Given the description of an element on the screen output the (x, y) to click on. 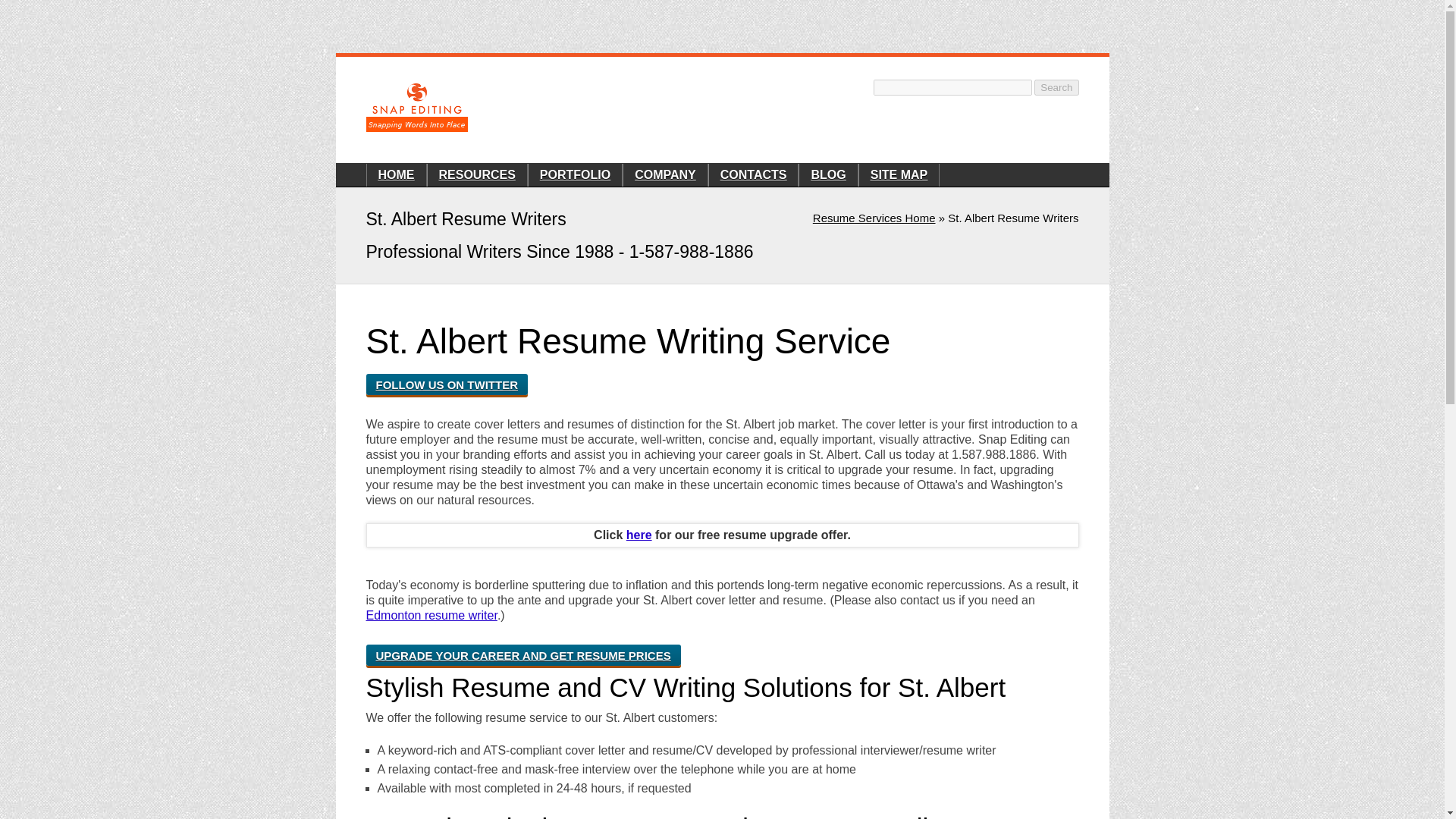
FOLLOW US ON TWITTER (446, 383)
CONTACTS (753, 174)
Search (1055, 87)
PORTFOLIO (575, 174)
UPGRADE YOUR CAREER AND GET RESUME PRICES (522, 654)
Resume Services Home (874, 217)
Edmonton resume writer (430, 615)
SITE MAP (899, 174)
Search (1055, 87)
HOME (395, 174)
here (639, 534)
BLOG (827, 174)
